Given the description of an element on the screen output the (x, y) to click on. 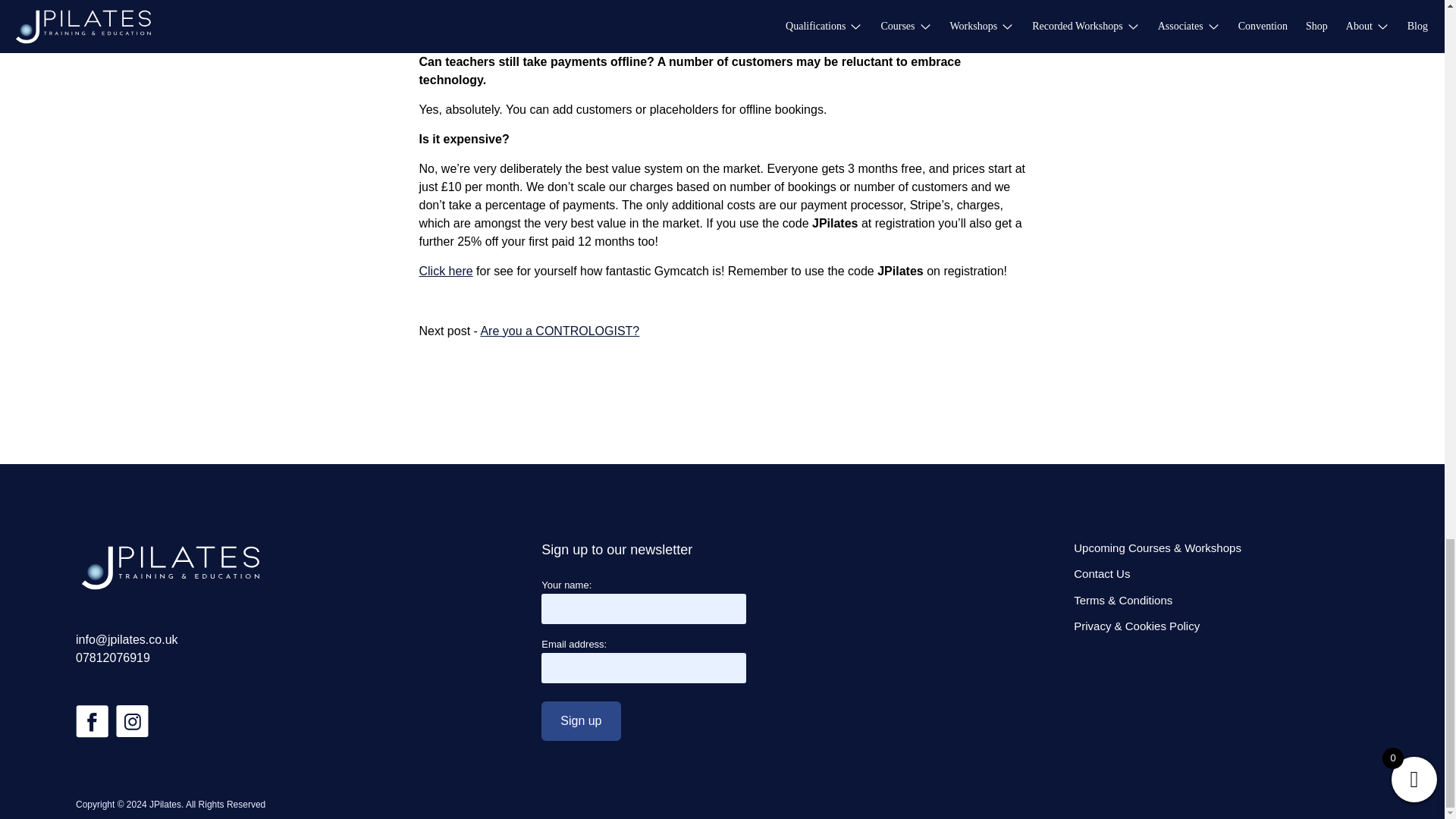
Sign up (580, 721)
